Given the description of an element on the screen output the (x, y) to click on. 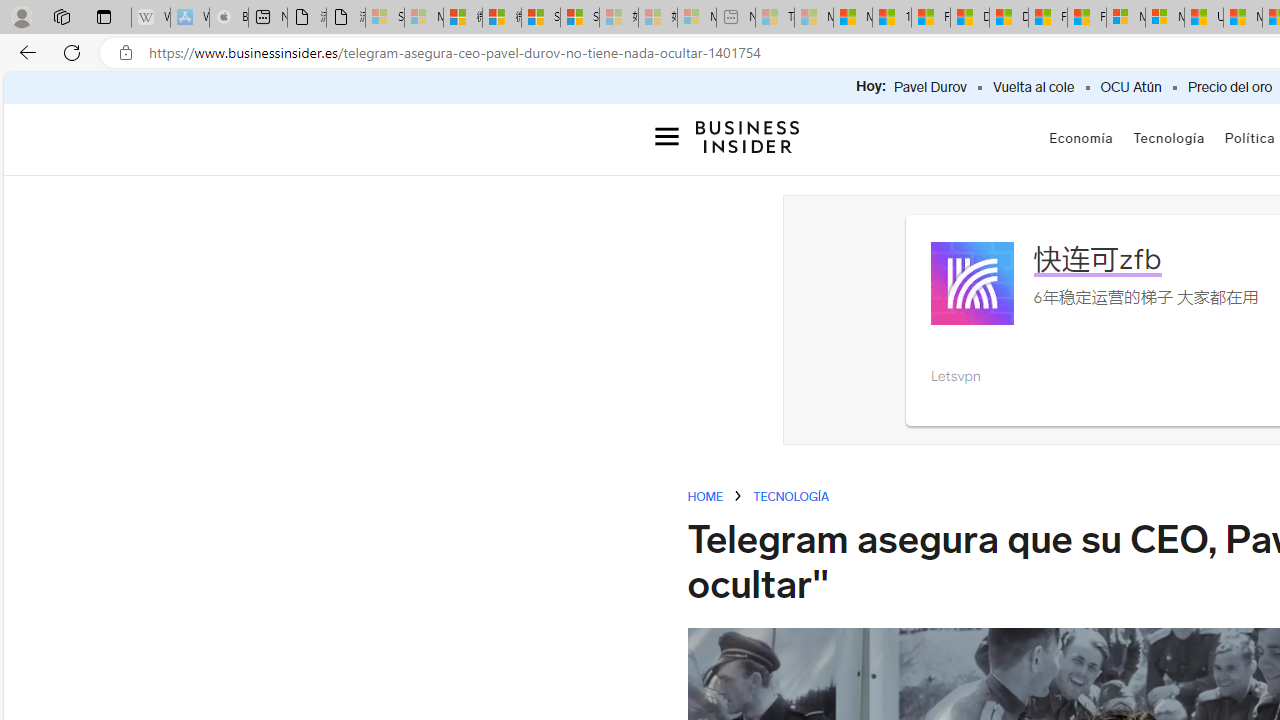
HOME (705, 497)
Pavel Durov (929, 88)
Letsvpn (971, 282)
Vuelta al cole (1033, 88)
Foo BAR | Trusted Community Engagement and Contributions (1086, 17)
Drinking tea every day is proven to delay biological aging (1008, 17)
HOME (705, 496)
Marine life - MSN - Sleeping (813, 17)
Precio del oro (1229, 88)
